Given the description of an element on the screen output the (x, y) to click on. 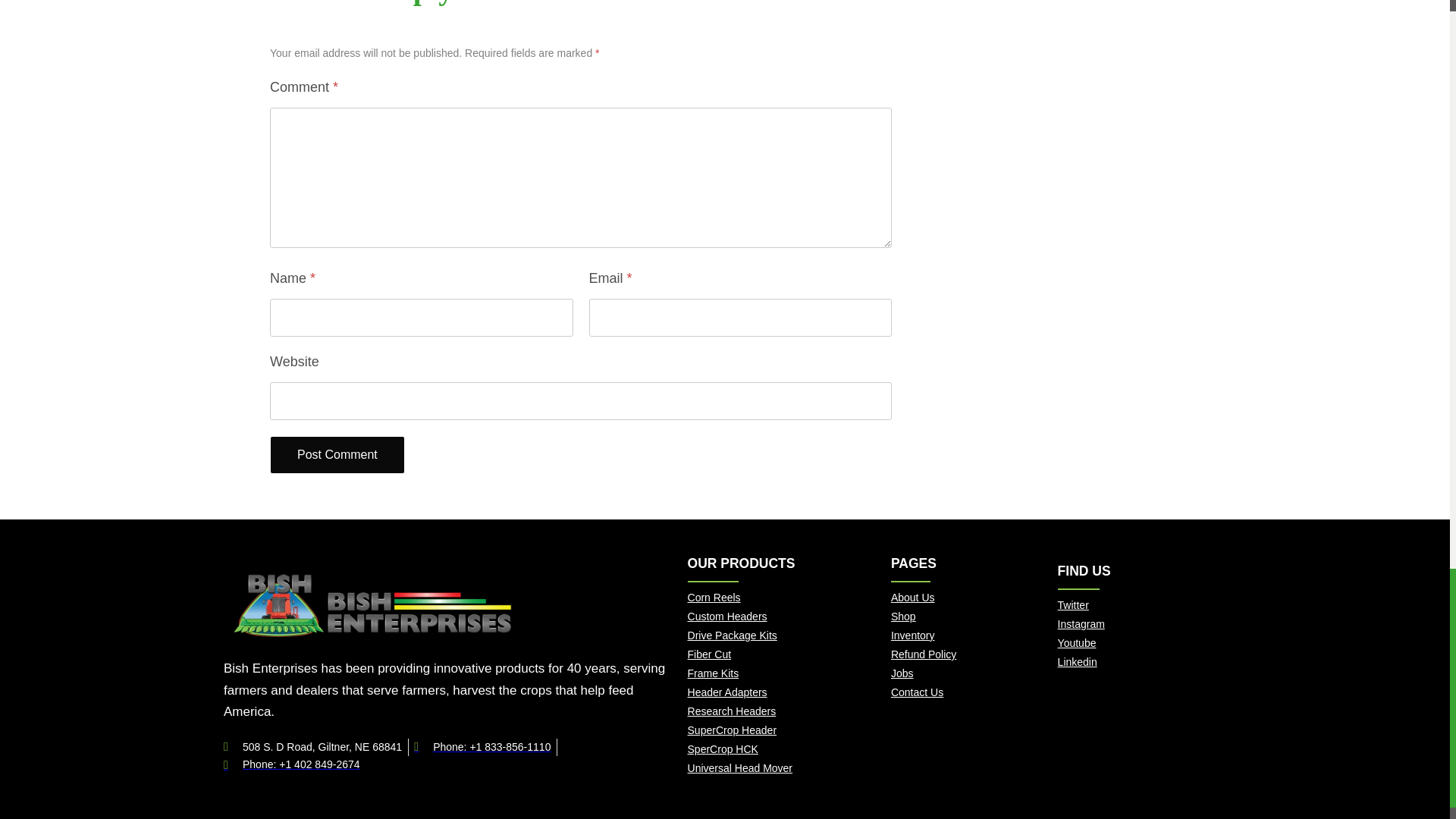
Post Comment (336, 454)
